Given the description of an element on the screen output the (x, y) to click on. 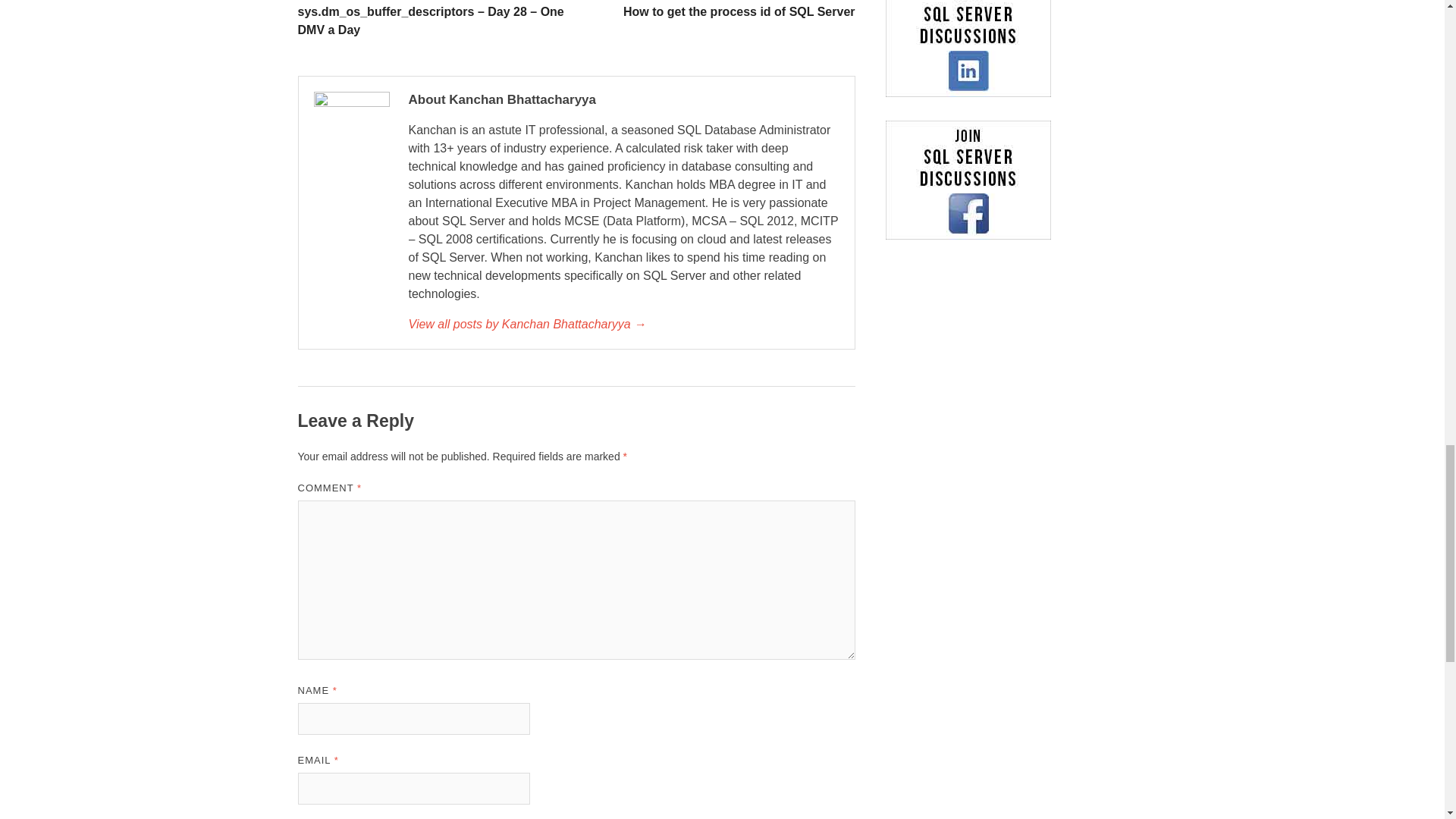
Kanchan Bhattacharyya (622, 324)
